Given the description of an element on the screen output the (x, y) to click on. 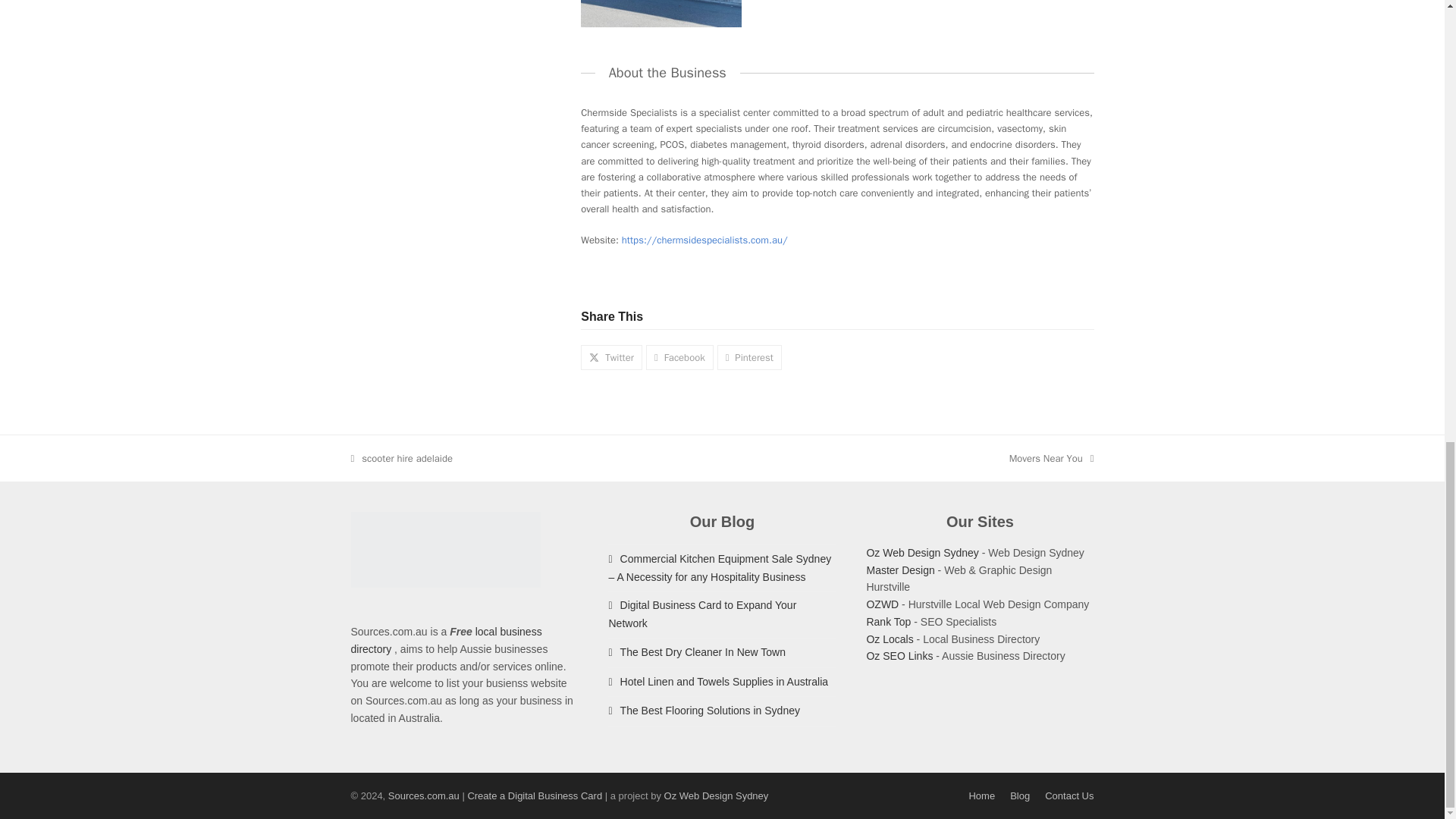
seo hurstville (888, 621)
OZWD (1051, 458)
australian business directory (882, 604)
Hotel Linen and Towels Supplies in Australia (889, 639)
Oz Web Design Sydney (718, 681)
Pinterest (400, 458)
Oz SEO Links (922, 552)
web designer hurstville (749, 357)
